Given the description of an element on the screen output the (x, y) to click on. 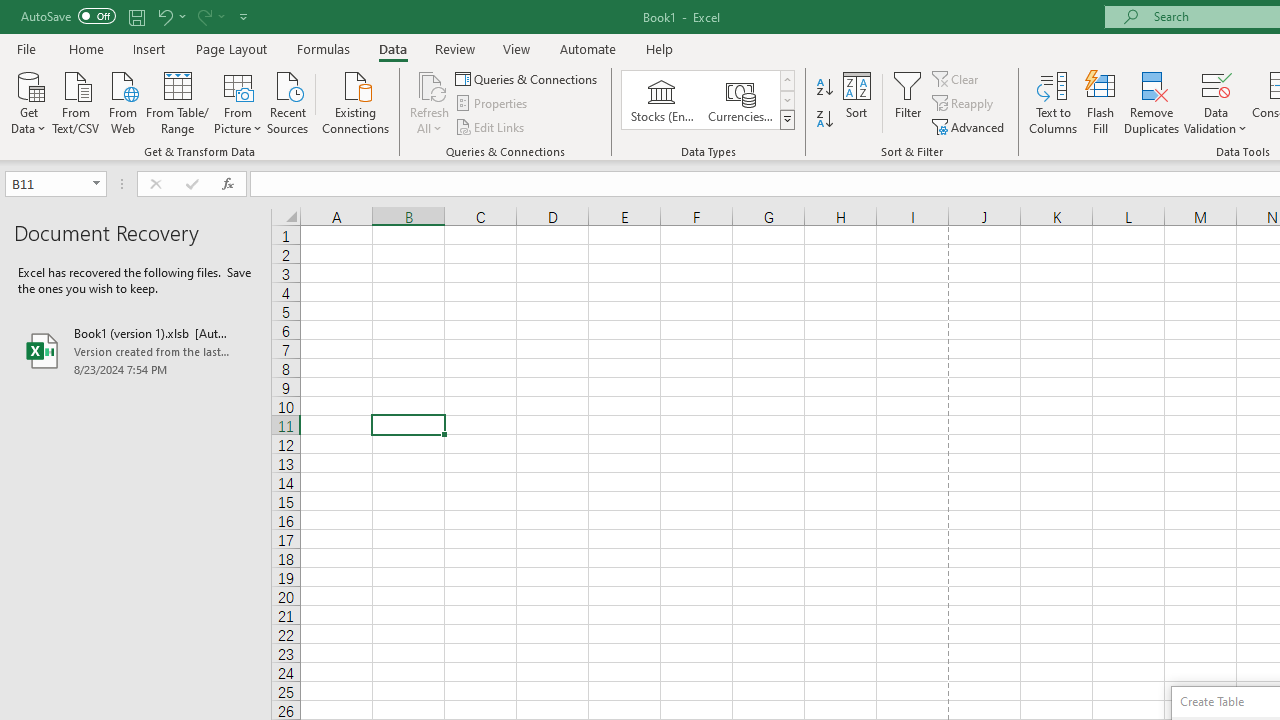
Name Box (46, 183)
Advanced... (970, 126)
Sort A to Z (824, 87)
File Tab (26, 48)
Row up (786, 79)
Sort Z to A (824, 119)
More Options (1215, 121)
From Text/CSV (75, 101)
Text to Columns... (1053, 102)
Sort... (856, 102)
Data Validation... (1215, 84)
Class: NetUIImage (787, 119)
Remove Duplicates (1151, 102)
Currencies (English) (740, 100)
Recent Sources (287, 101)
